Given the description of an element on the screen output the (x, y) to click on. 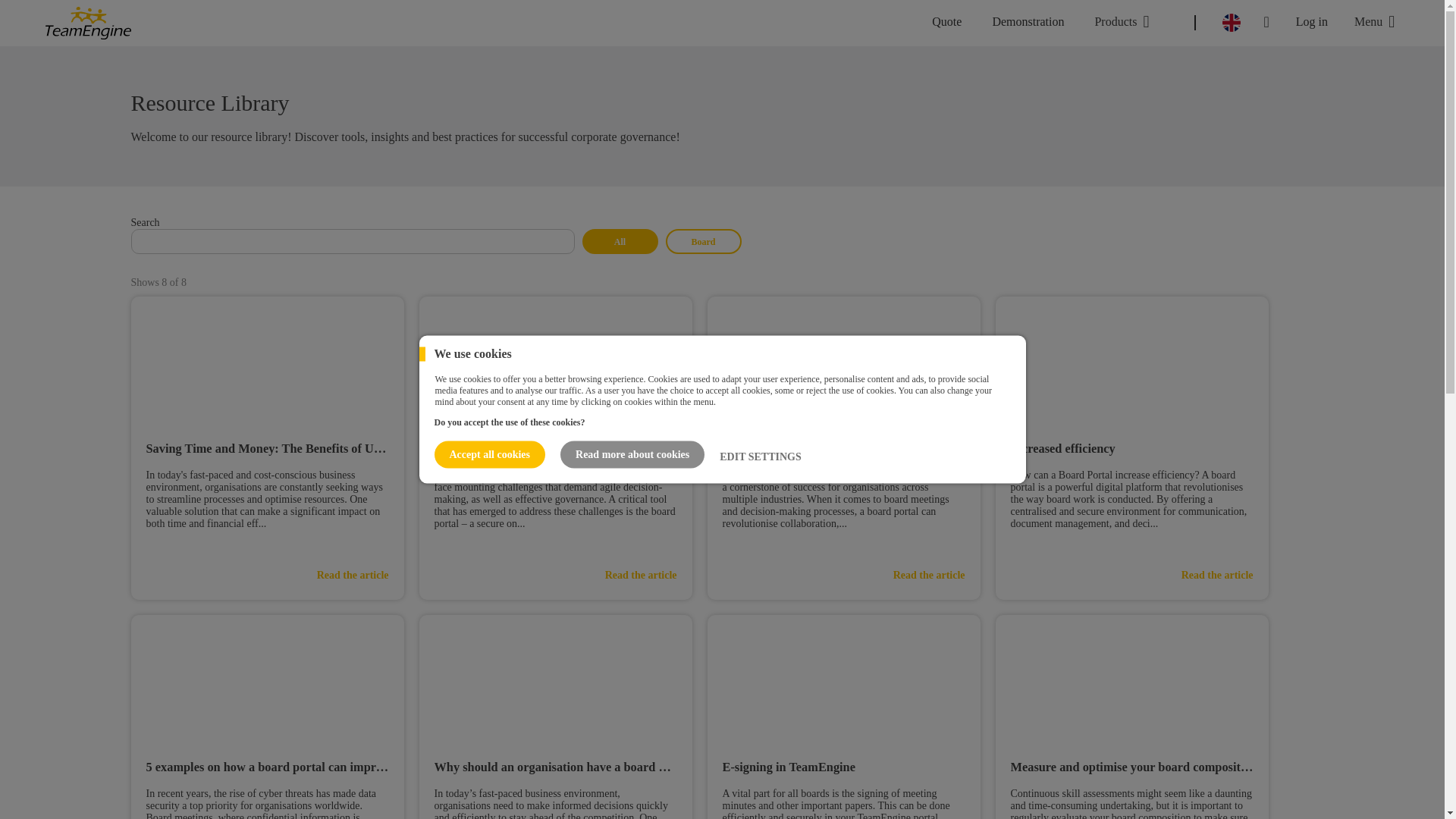
Demonstration (1027, 22)
